Given the description of an element on the screen output the (x, y) to click on. 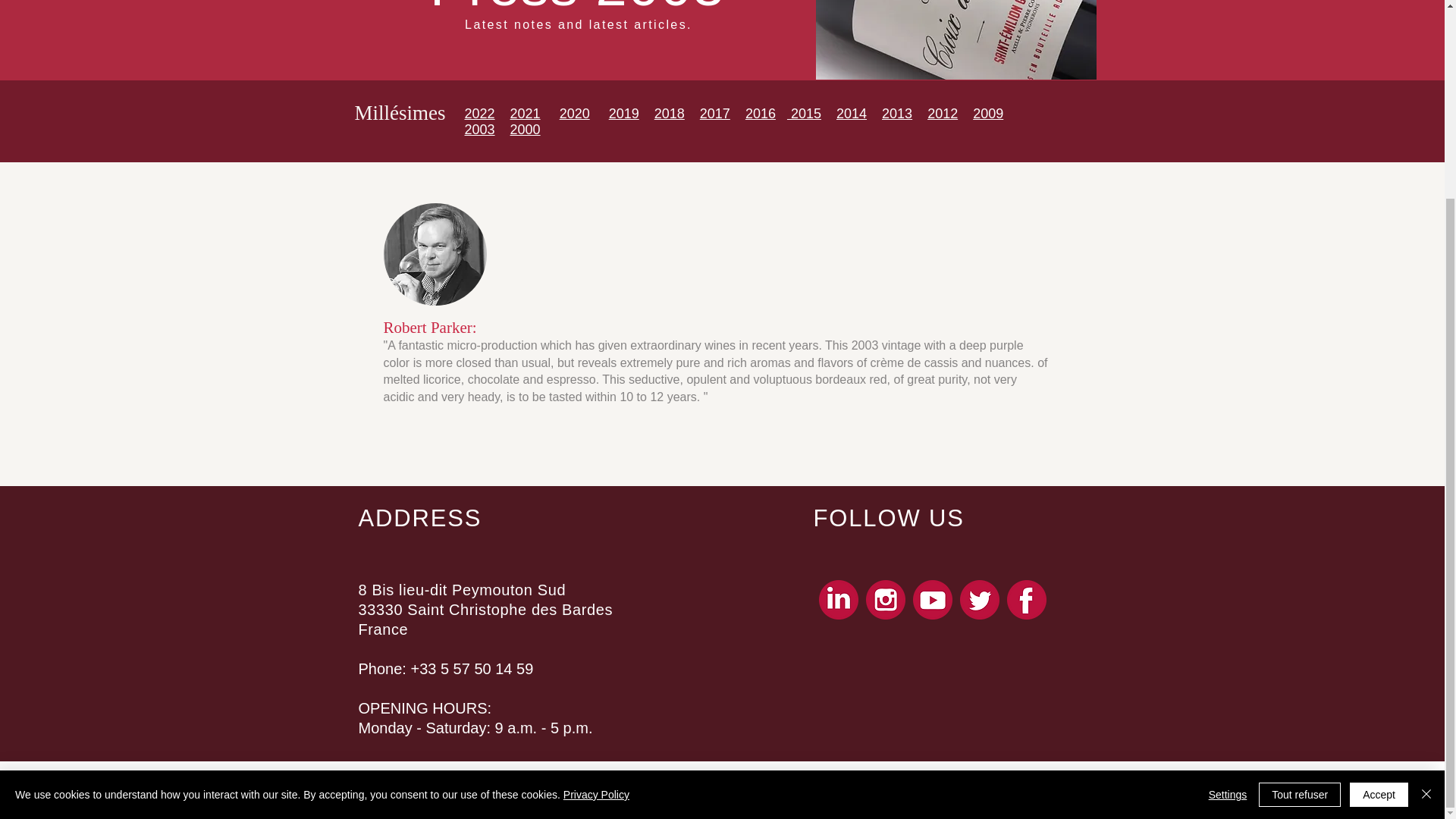
2014 (850, 113)
Legal Notice (675, 776)
2013 (897, 113)
2009 (987, 113)
2016 (760, 113)
2022 (479, 113)
2020 (574, 113)
5 57 50 14 59 (486, 668)
2012 (942, 113)
2021 (525, 113)
